Given the description of an element on the screen output the (x, y) to click on. 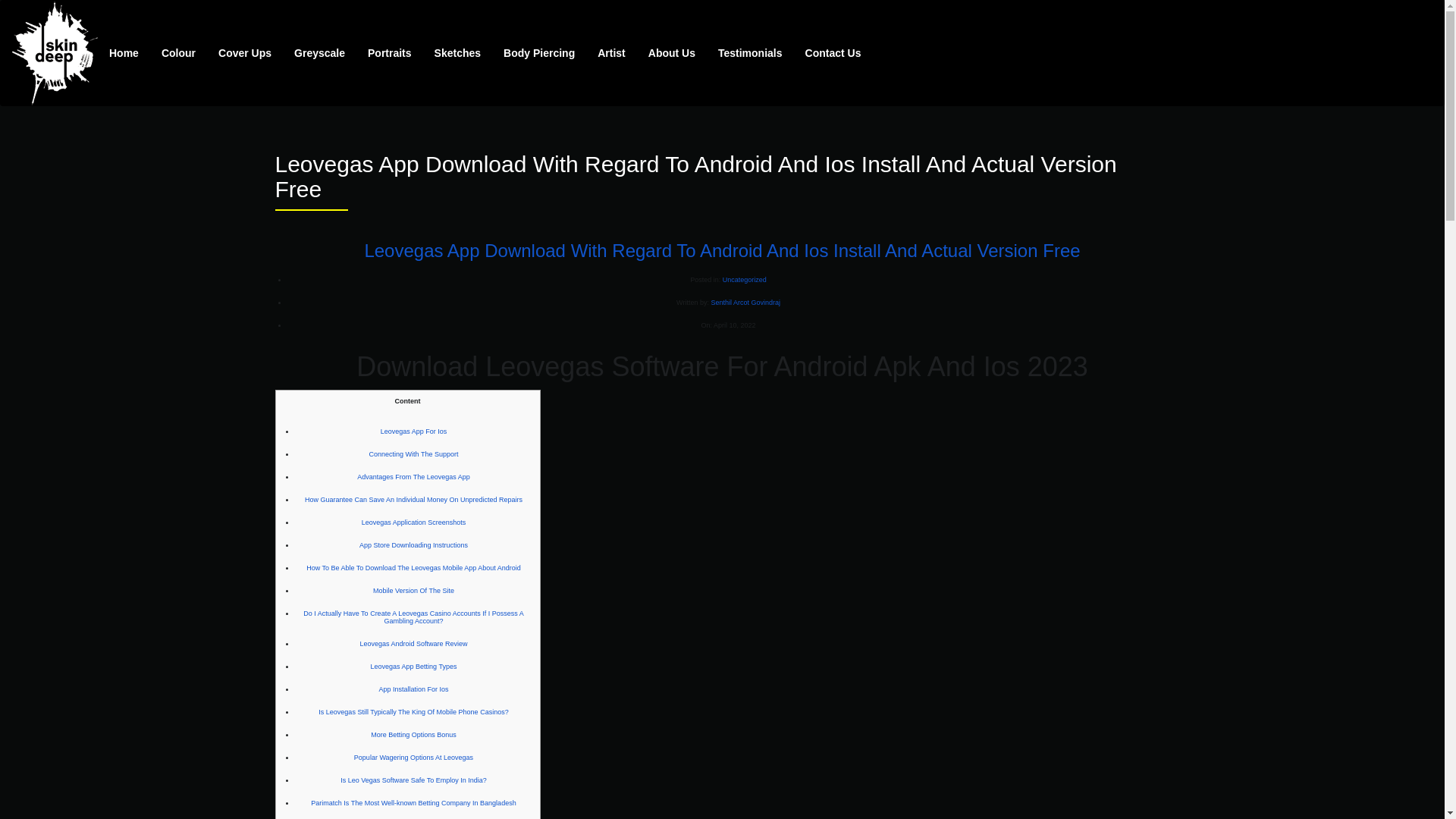
Leovegas Application Screenshots (413, 522)
Leovegas App Betting Types (414, 666)
Popular Wagering Options At Leovegas (413, 757)
More Betting Options Bonus (414, 734)
Advantages From The Leovegas App (412, 476)
Leovegas Android Software Review (413, 643)
App Store Downloading Instructions (413, 544)
Is Leo Vegas Software Safe To Employ In India? (413, 779)
Leovegas App For Ios (413, 430)
App Installation For Ios (413, 688)
